Given the description of an element on the screen output the (x, y) to click on. 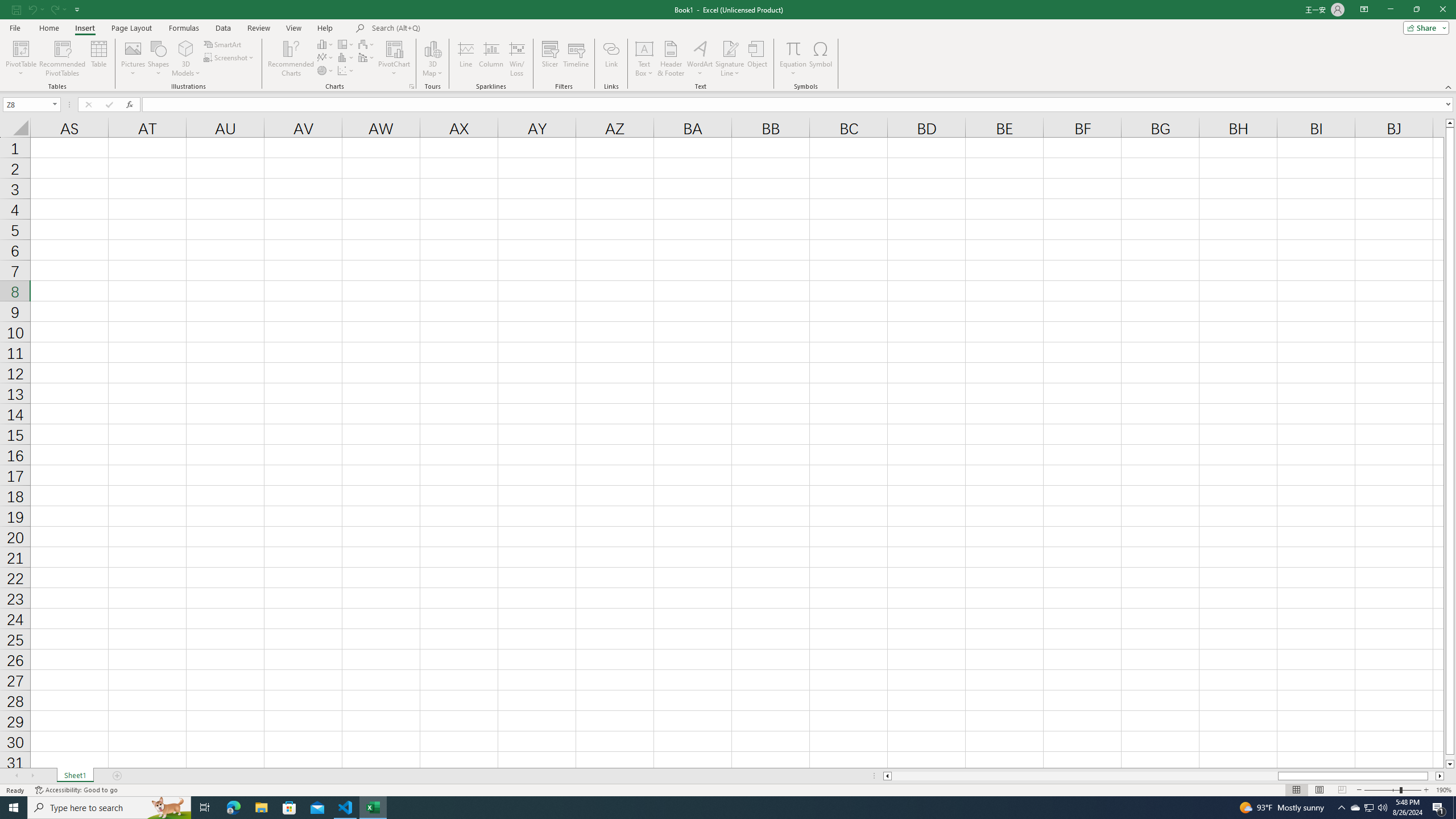
Insert Column or Bar Chart (325, 44)
Recommended Charts (411, 85)
Scroll Right (32, 775)
Formula Bar (798, 104)
Ribbon Display Options (1364, 9)
Equation (793, 58)
Screenshot (229, 56)
Save (16, 9)
Signature Line (729, 58)
Timeline (575, 58)
More Options (793, 68)
Close (1442, 9)
